Given the description of an element on the screen output the (x, y) to click on. 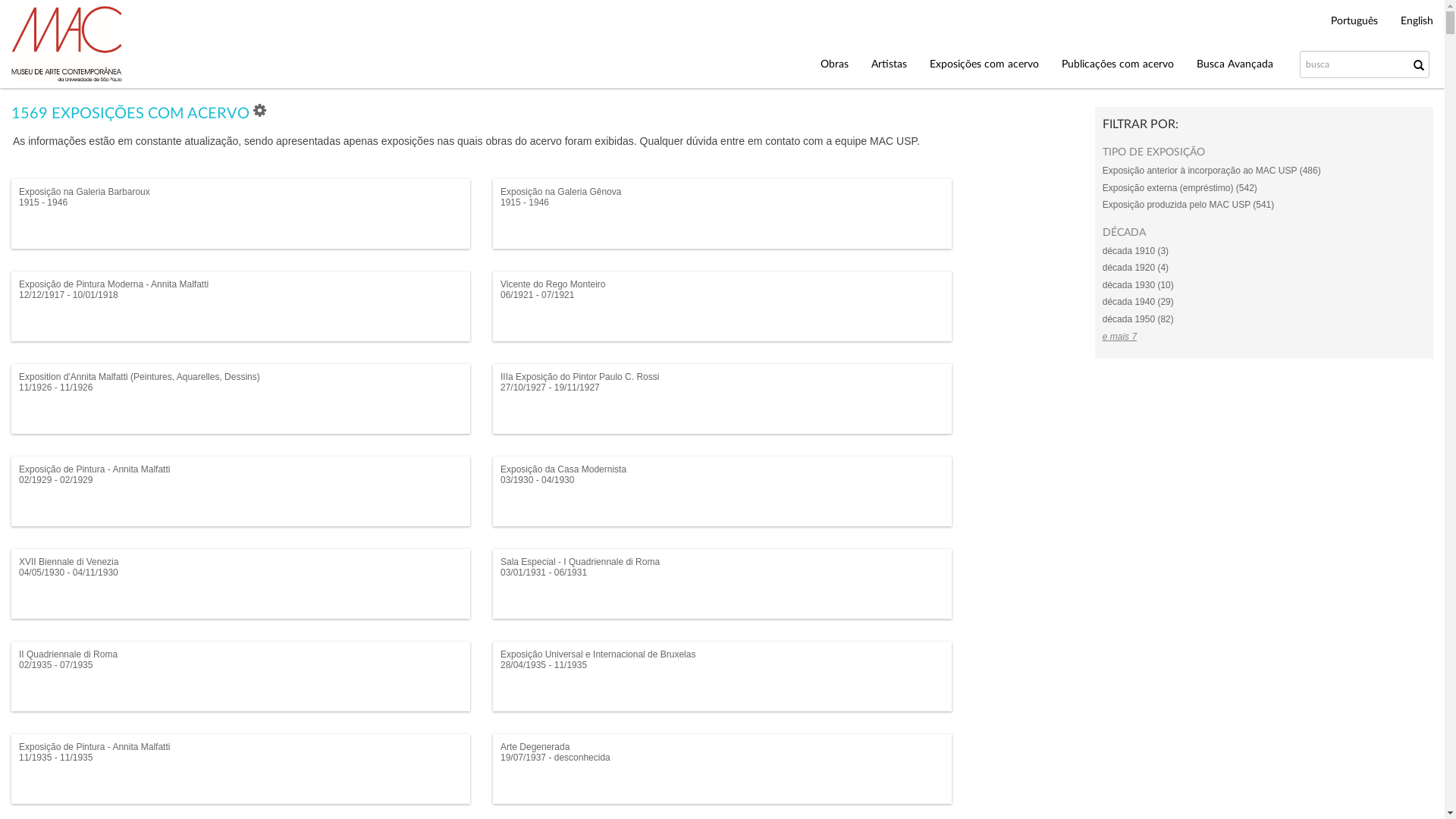
XVII Biennale di Venezia Element type: text (68, 561)
Artistas Element type: text (888, 64)
Vicente do Rego Monteiro Element type: text (552, 284)
II Quadriennale di Roma Element type: text (67, 654)
English Element type: text (1416, 21)
Arte Degenerada Element type: text (534, 746)
e mais 7 Element type: text (1119, 335)
Sala Especial - I Quadriennale di Roma Element type: text (579, 561)
Obras Element type: text (834, 64)
